Given the description of an element on the screen output the (x, y) to click on. 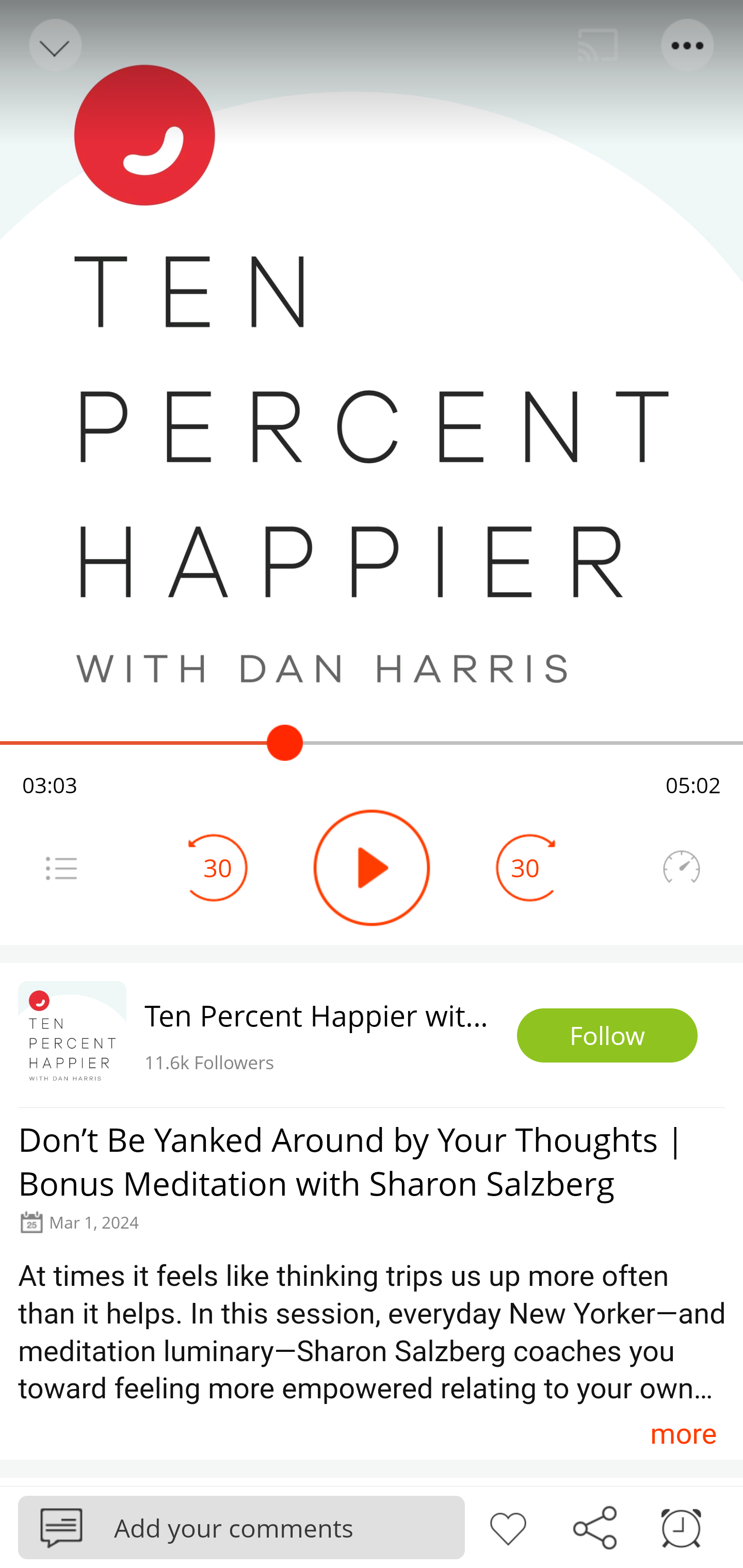
Back (53, 45)
Cast. Disconnected (597, 45)
Menu (688, 45)
Play (371, 867)
30 Seek Backward (217, 867)
30 Seek Forward (525, 867)
Menu (60, 867)
Speedometer (681, 867)
Follow (607, 1035)
more (682, 1432)
Like (508, 1526)
Share (594, 1526)
Sleep timer (681, 1526)
Podbean Add your comments (241, 1526)
